Given the description of an element on the screen output the (x, y) to click on. 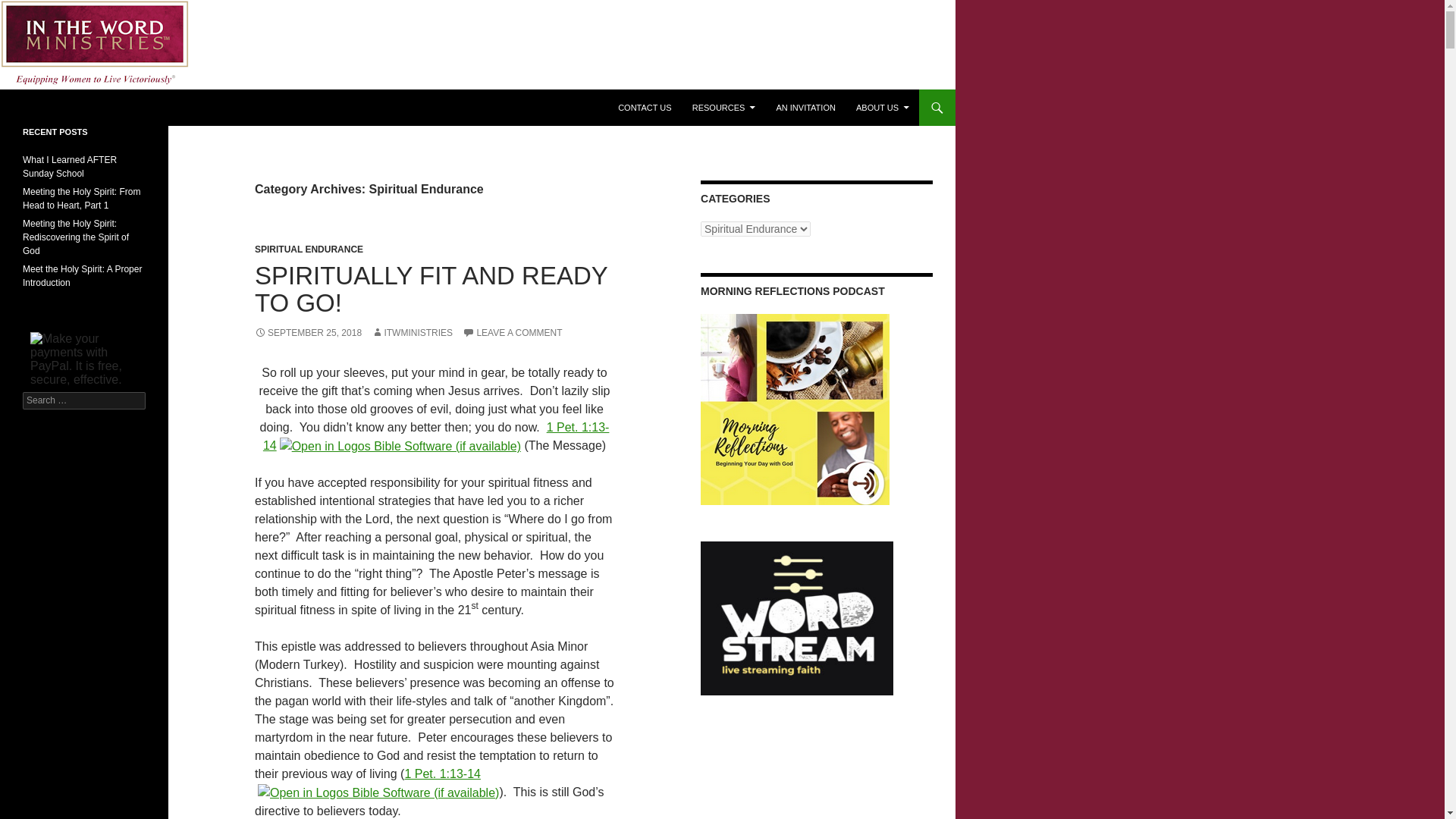
1 Pet. 1:13-14 (436, 436)
CONTACT US (644, 107)
1 Pet. 1:13-14 (442, 773)
AN INVITATION (805, 107)
LEAVE A COMMENT (512, 332)
SPIRITUALLY FIT AND READY TO GO! (430, 288)
RESOURCES (723, 107)
SEPTEMBER 25, 2018 (307, 332)
SPIRITUAL ENDURANCE (308, 249)
ABOUT US (882, 107)
In The Word Ministries (95, 107)
ITWMINISTRIES (411, 332)
